Given the description of an element on the screen output the (x, y) to click on. 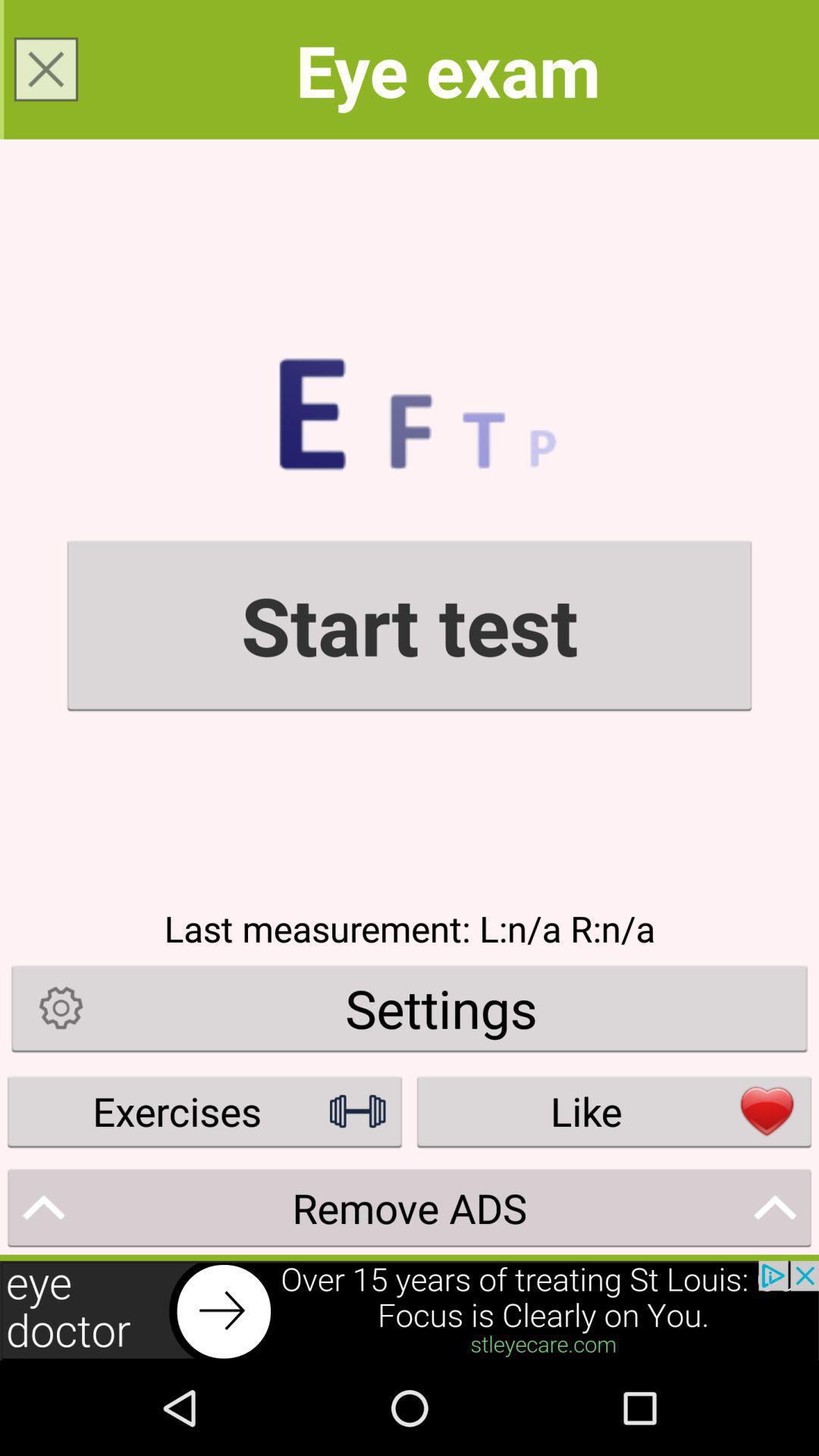
click the advertisement (409, 1310)
